Given the description of an element on the screen output the (x, y) to click on. 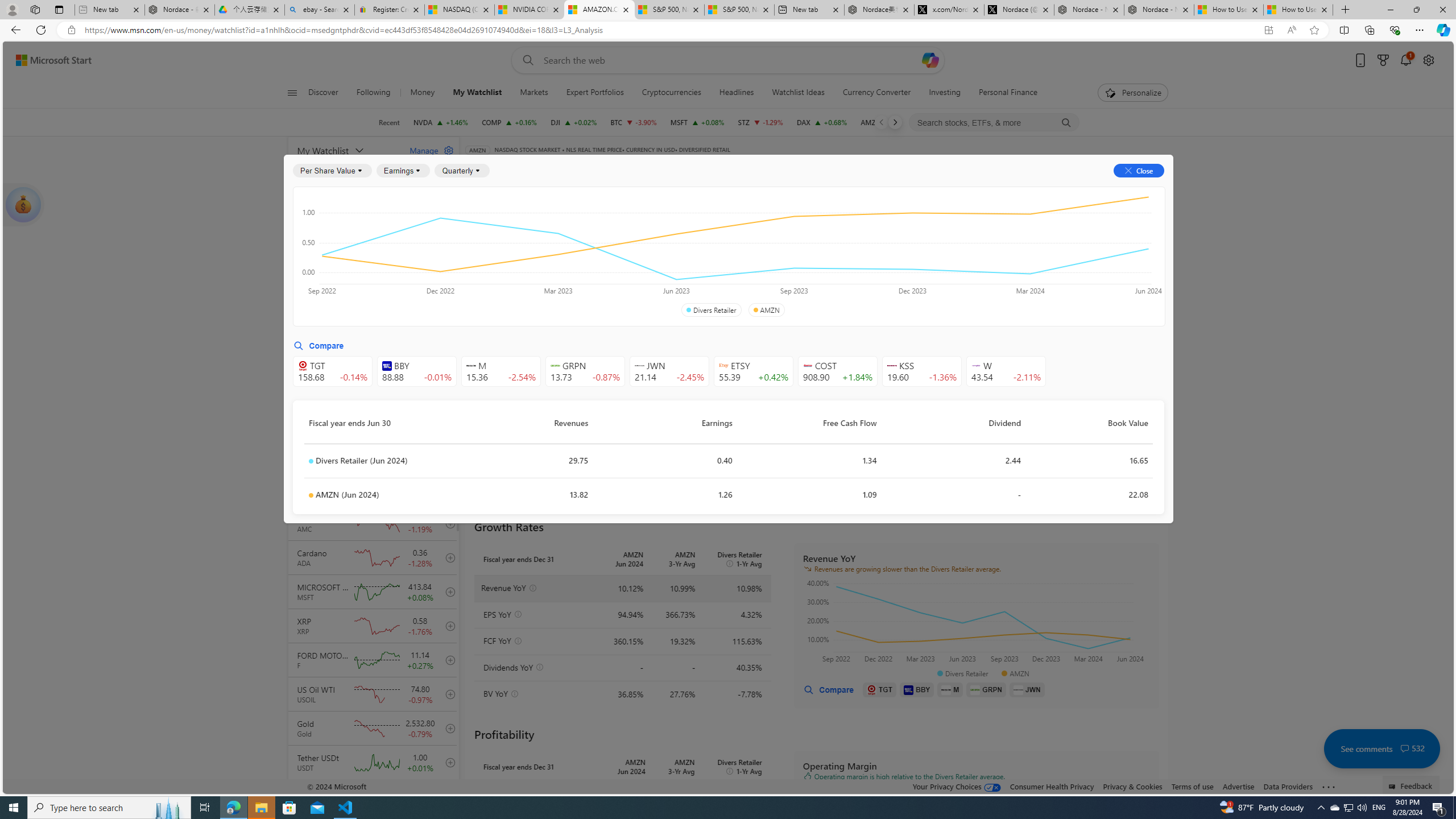
Class: symbolDot-DS-EntryPoint1-2 (310, 495)
Personal Profile (12, 9)
Class: cwt-icon-vector (1404, 748)
Class: autoSuggestIcon-DS-EntryPoint1-2 (976, 365)
Collections (1369, 29)
Skip to content (49, 59)
Web search (526, 60)
AMZN (766, 310)
Consumer Health Privacy (1051, 785)
Class: feedback_link_icon-DS-EntryPoint1-1 (1393, 786)
Personalize (1132, 92)
Following (373, 92)
